Given the description of an element on the screen output the (x, y) to click on. 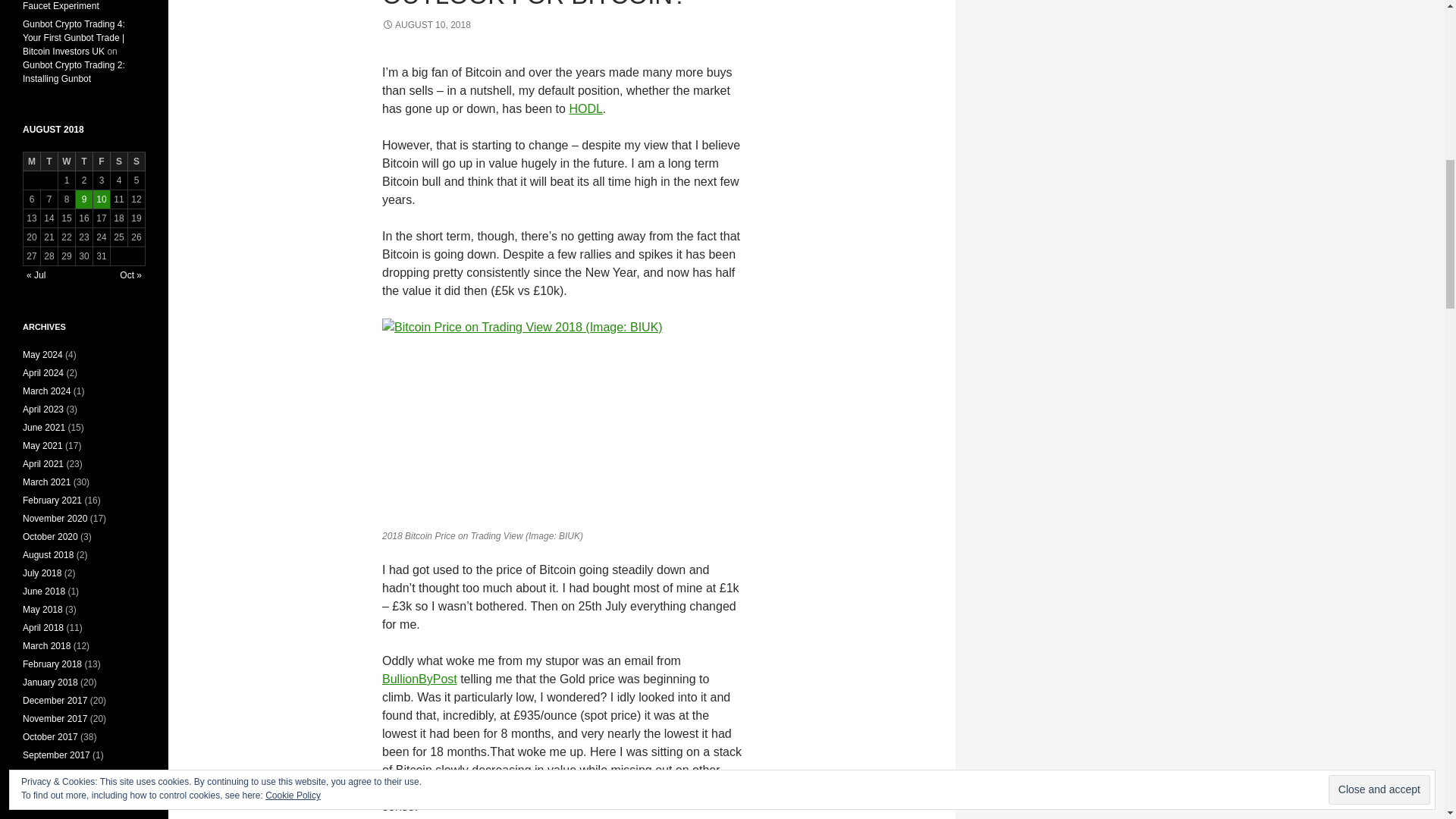
Friday (101, 161)
Wednesday (66, 161)
Tuesday (49, 161)
Sunday (136, 161)
Thursday (84, 161)
Monday (31, 161)
HODL (585, 108)
BullionByPost (419, 678)
Saturday (119, 161)
WHAT IS THE CURRENT OUTLOOK FOR BITCOIN? (534, 4)
AUGUST 10, 2018 (425, 24)
